Given the description of an element on the screen output the (x, y) to click on. 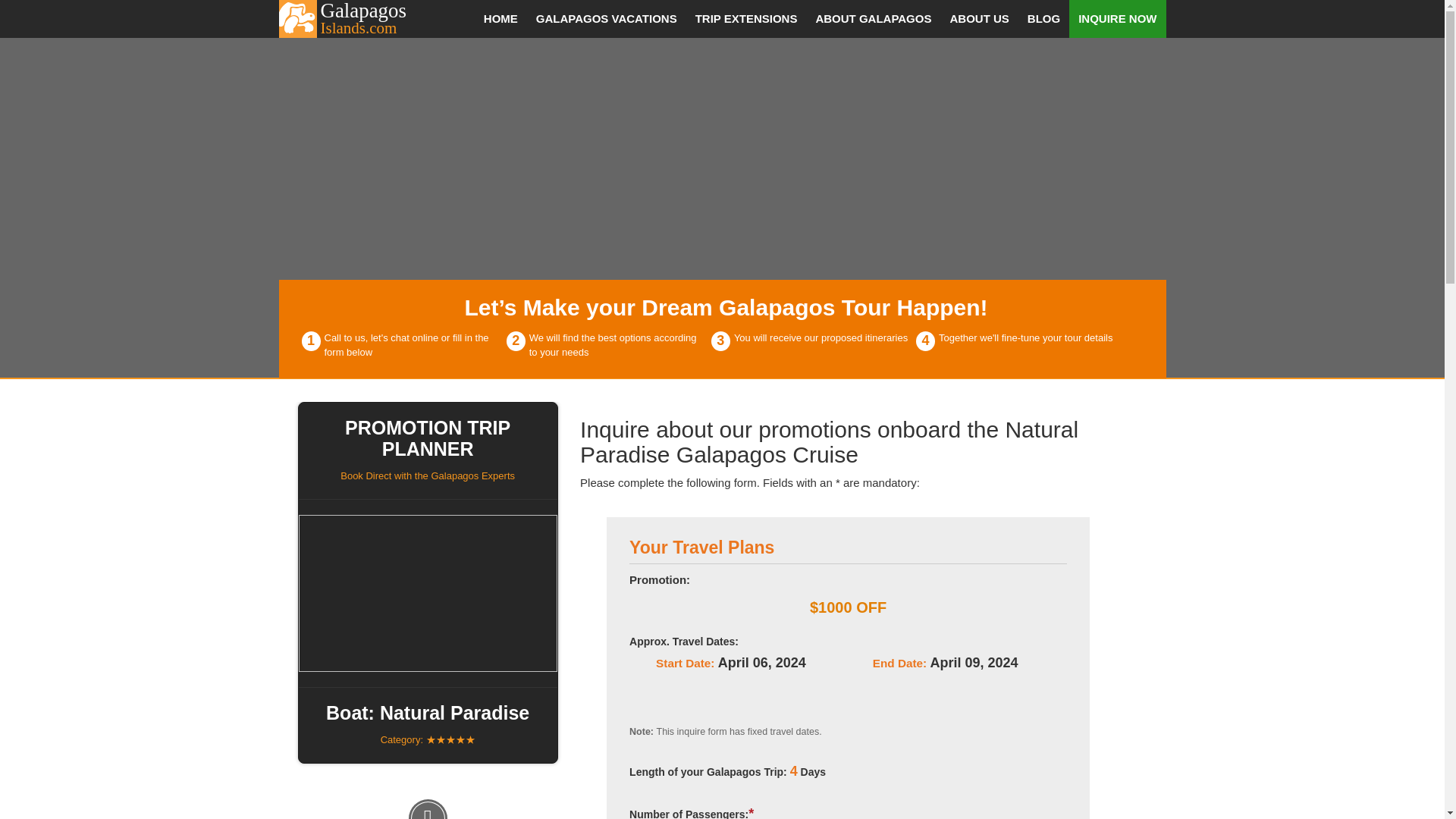
ABOUT GALAPAGOS (873, 18)
Boat Cruise (427, 593)
GALAPAGOS VACATIONS (606, 18)
HOME (500, 18)
TRIP EXTENSIONS (354, 18)
